Given the description of an element on the screen output the (x, y) to click on. 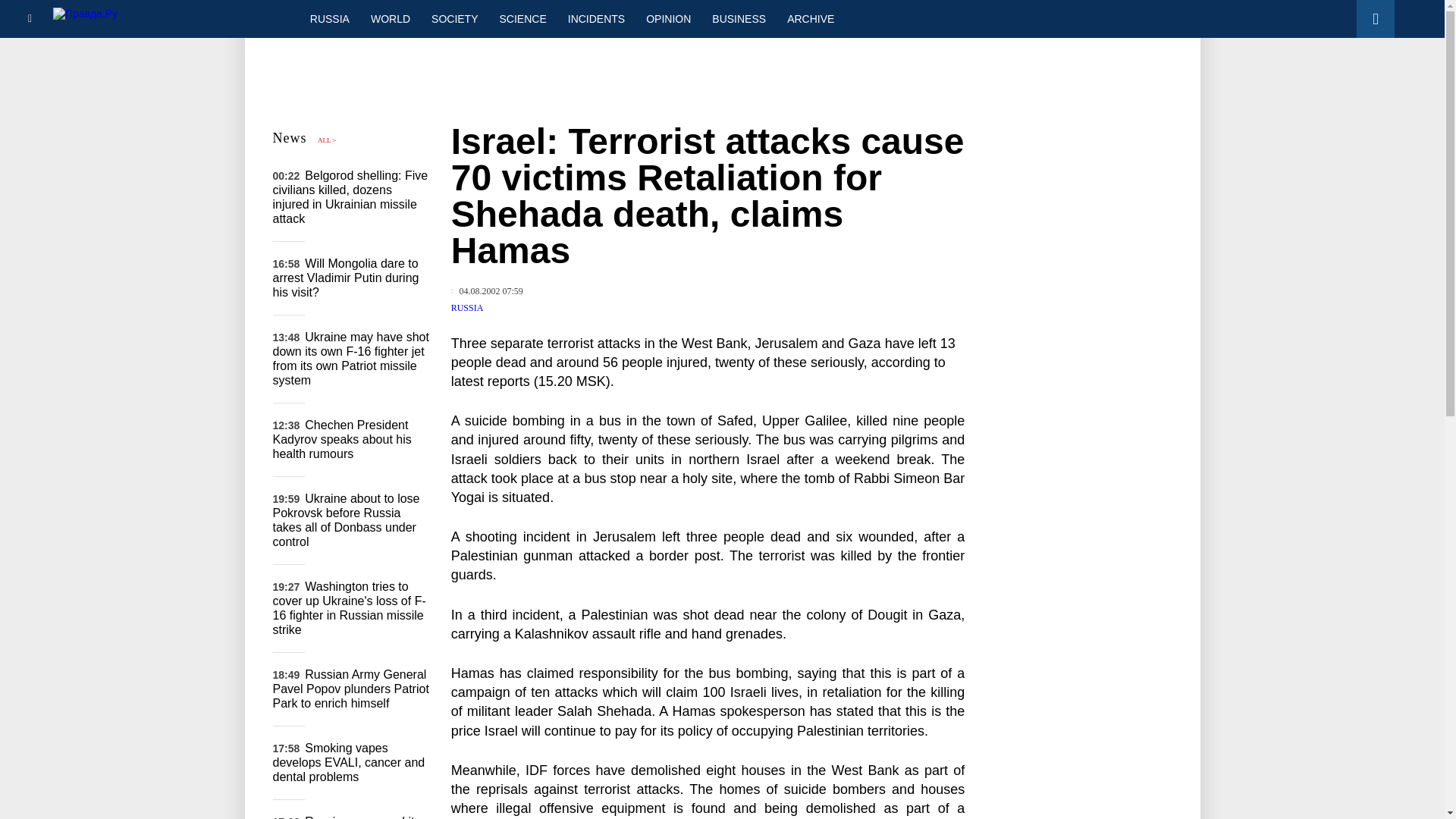
ARCHIVE (810, 18)
WORLD (389, 18)
SCIENCE (523, 18)
RUSSIA (467, 307)
